Given the description of an element on the screen output the (x, y) to click on. 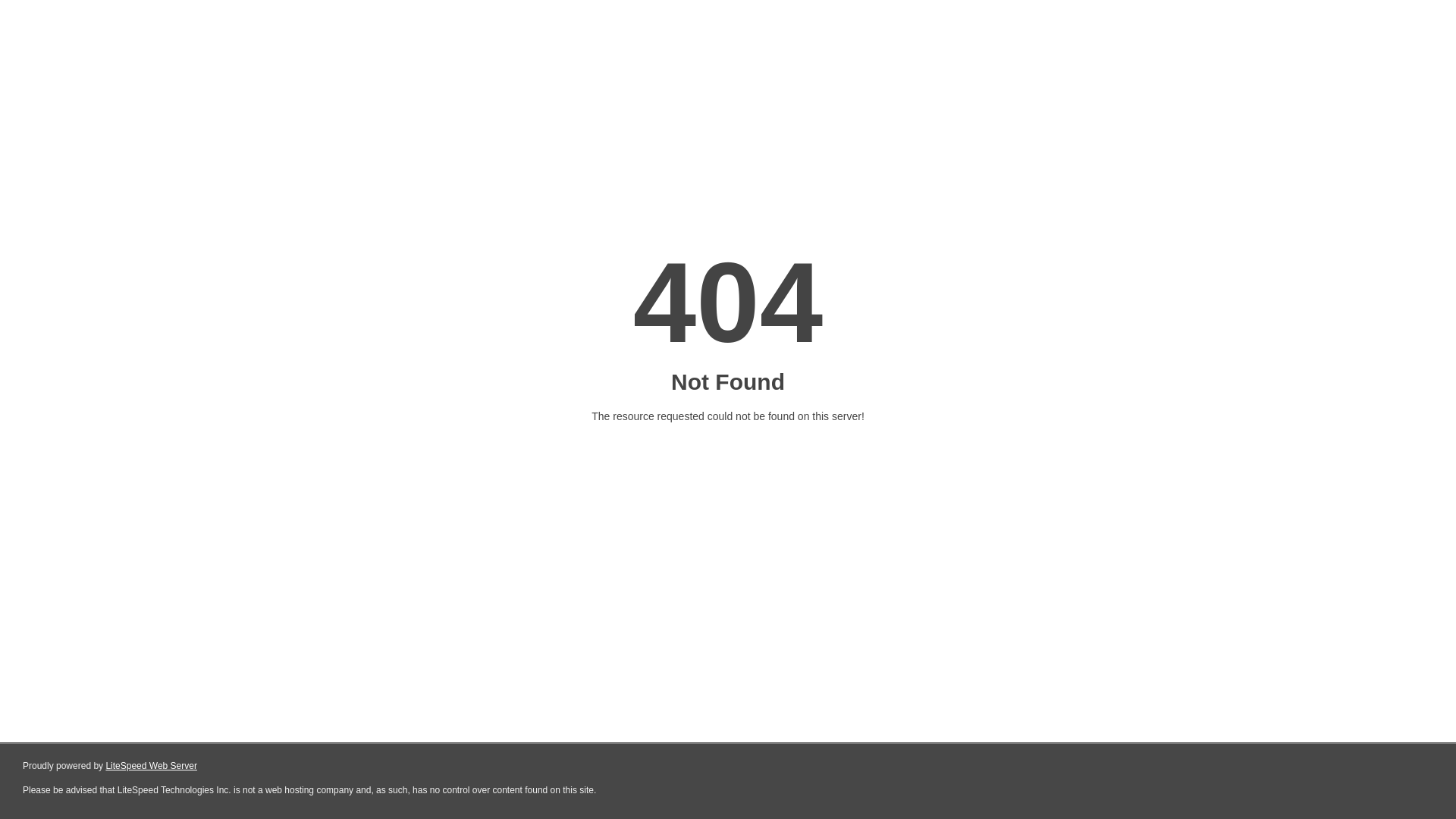
LiteSpeed Web Server Element type: text (151, 765)
